Given the description of an element on the screen output the (x, y) to click on. 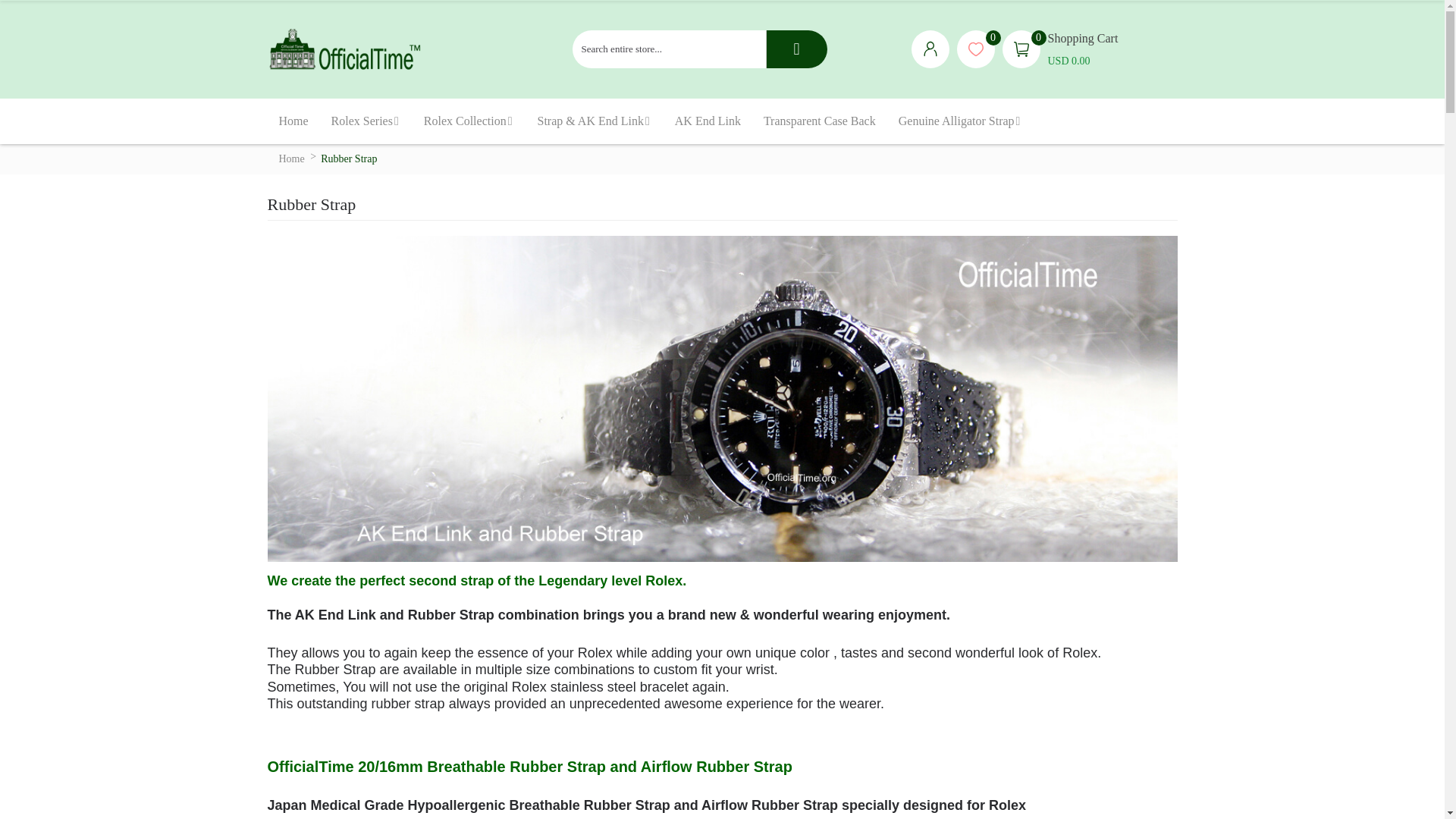
OfficialTime (346, 49)
Home (292, 121)
0 (979, 48)
Rolex Series (366, 121)
Rolex Collection (468, 121)
